Given the description of an element on the screen output the (x, y) to click on. 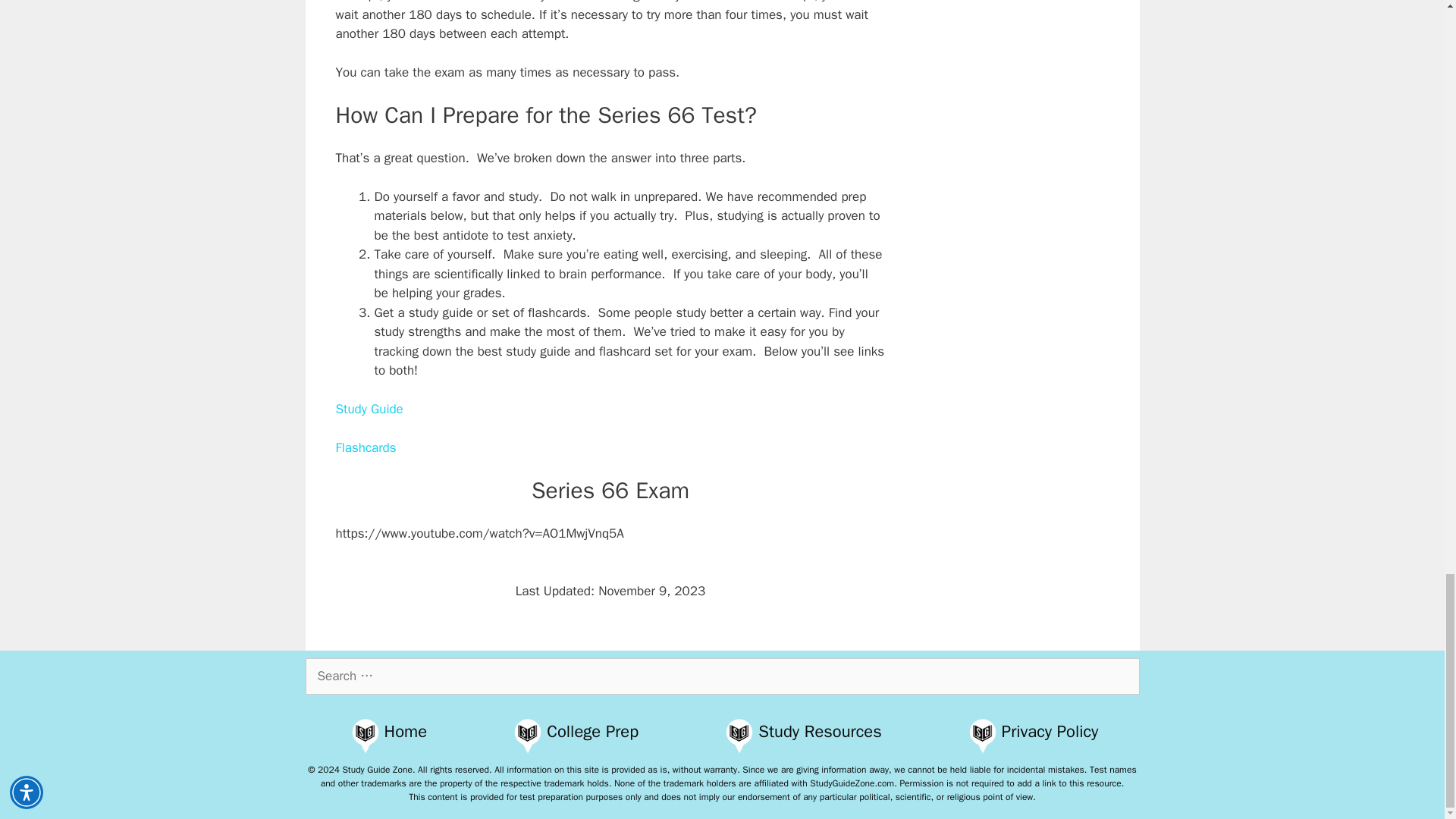
Home (406, 731)
Study Resources (819, 731)
Privacy Policy (1050, 731)
Search for: (721, 676)
Study Guide (368, 408)
Flashcards (365, 447)
College Prep (593, 731)
